Given the description of an element on the screen output the (x, y) to click on. 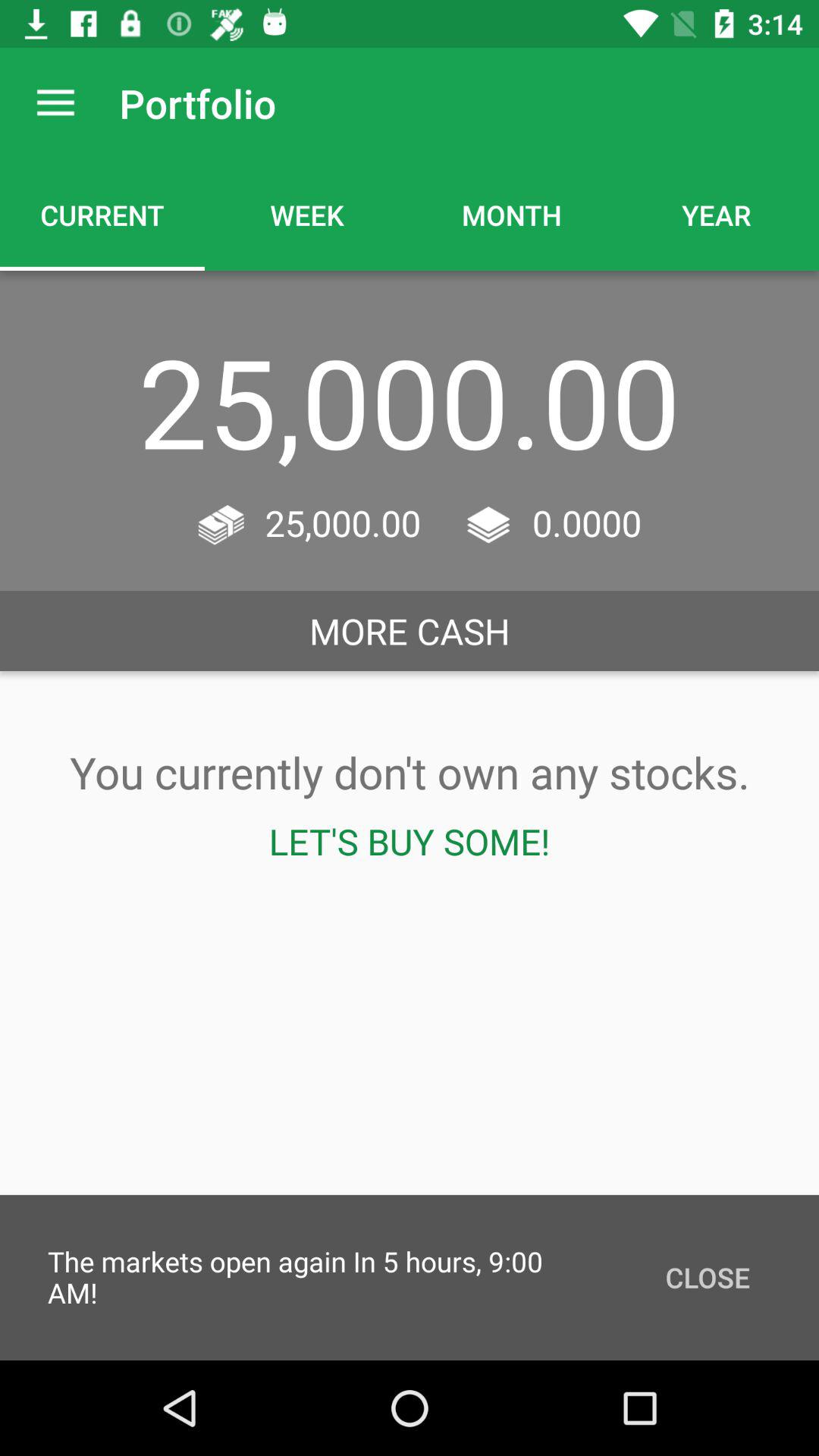
choose the close (707, 1277)
